Given the description of an element on the screen output the (x, y) to click on. 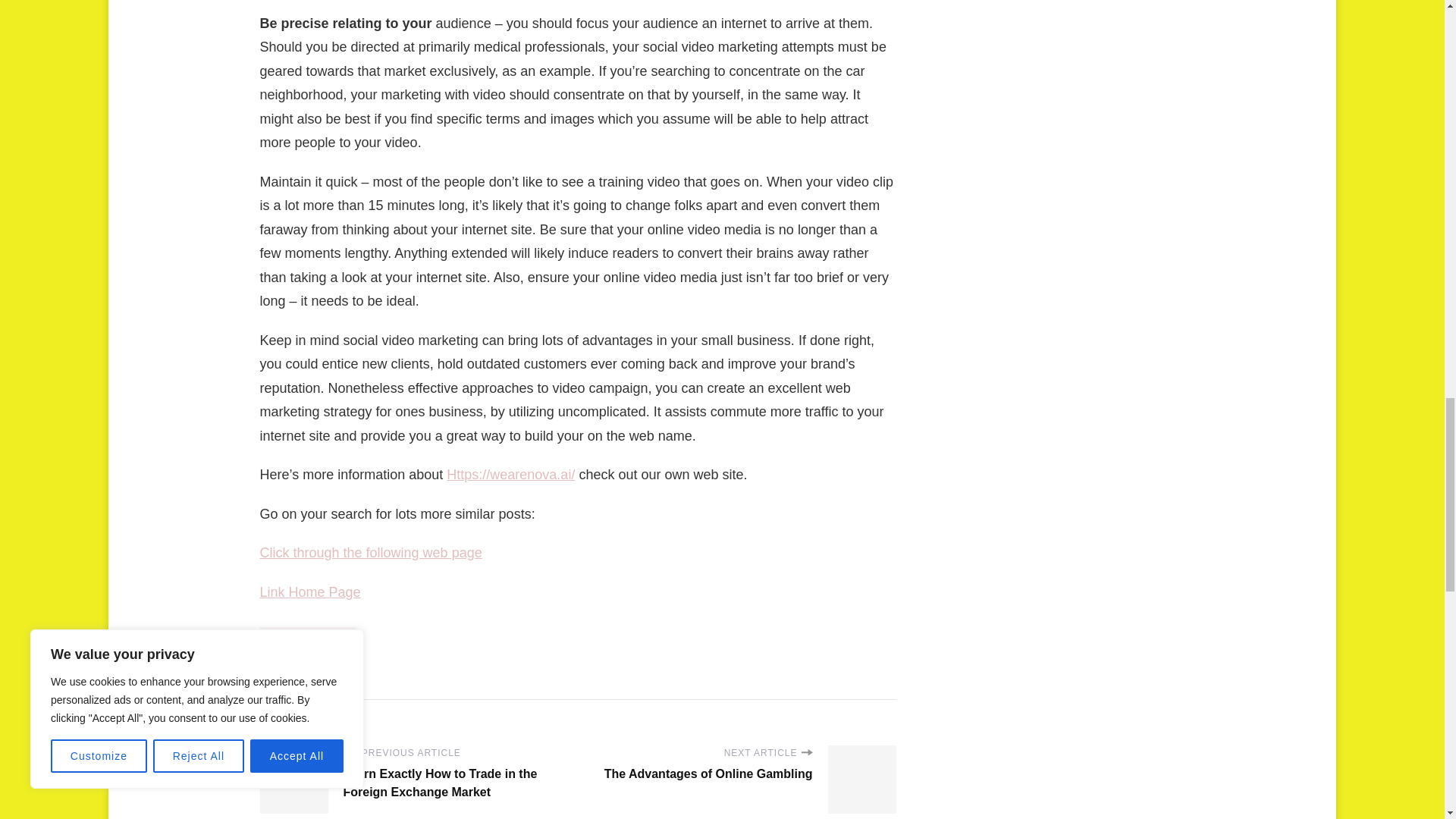
Click through the following web page (370, 552)
Link Home Page (309, 591)
EXPERIMENTS (307, 638)
